Given the description of an element on the screen output the (x, y) to click on. 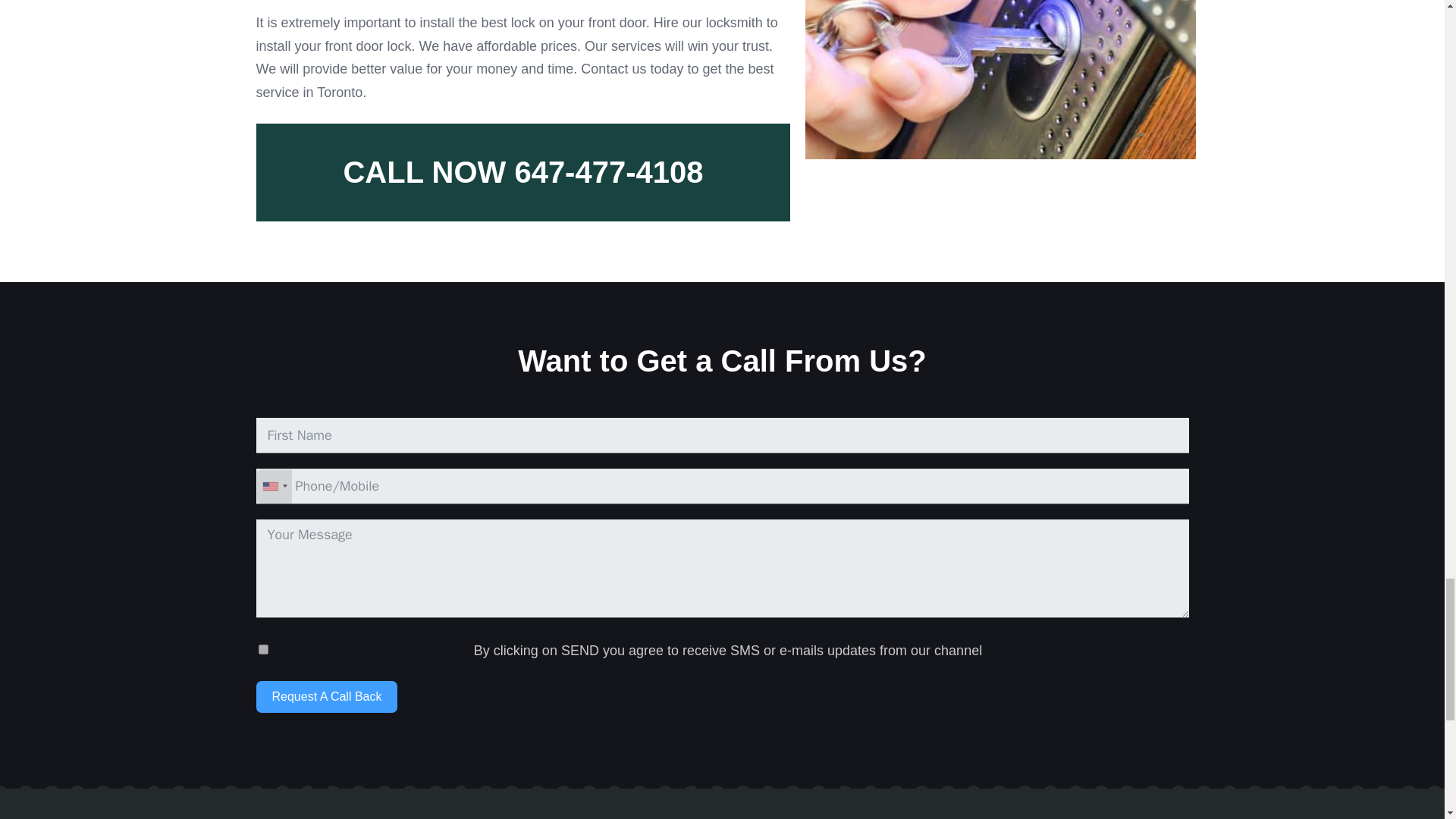
on (263, 649)
